Given the description of an element on the screen output the (x, y) to click on. 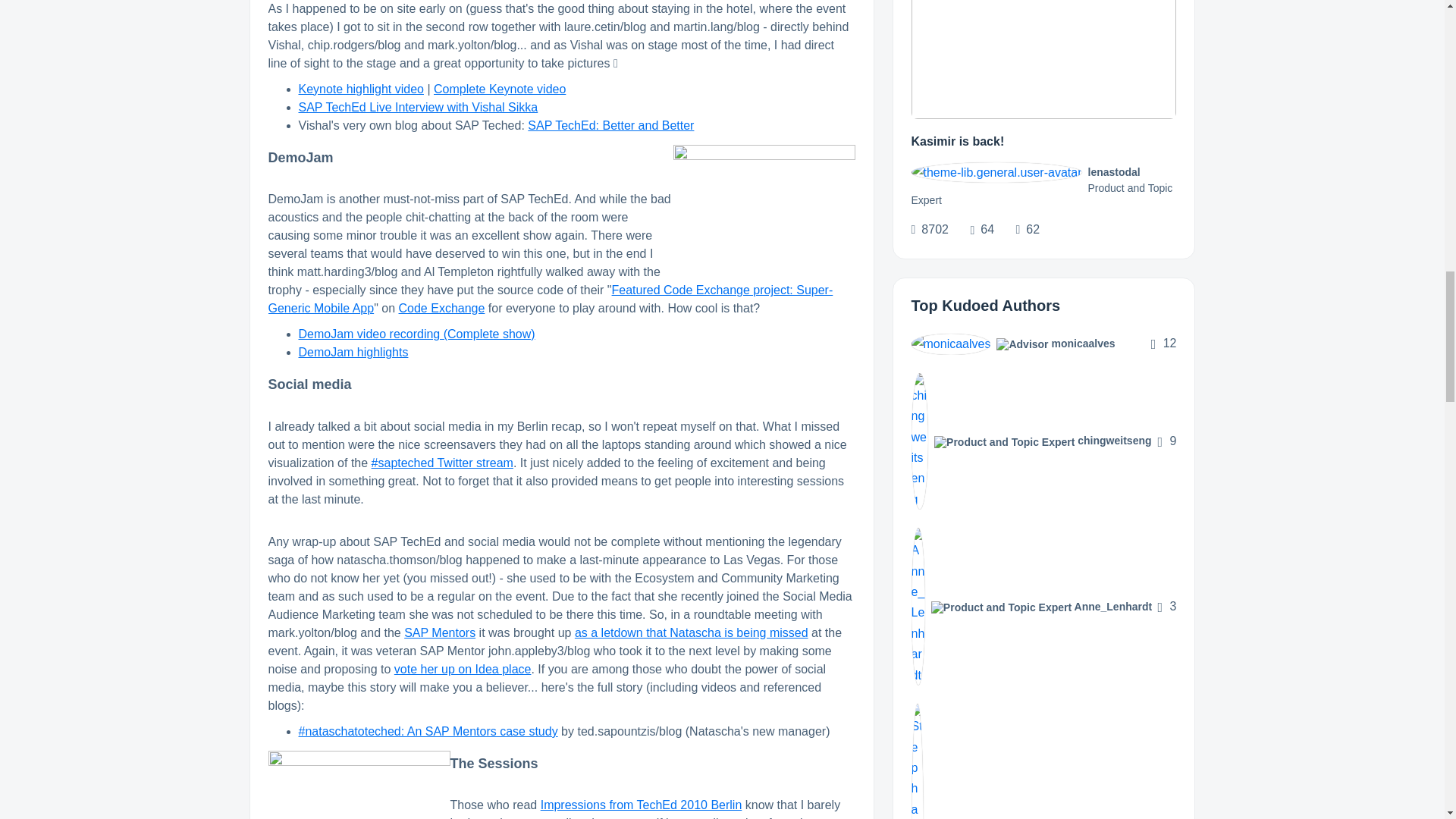
SAP TechEd: Better and Better (610, 124)
SAP TechEd Live Interview with Vishal Sikka (418, 106)
Complete Keynote video (499, 88)
Keynote highlight video (360, 88)
